Given the description of an element on the screen output the (x, y) to click on. 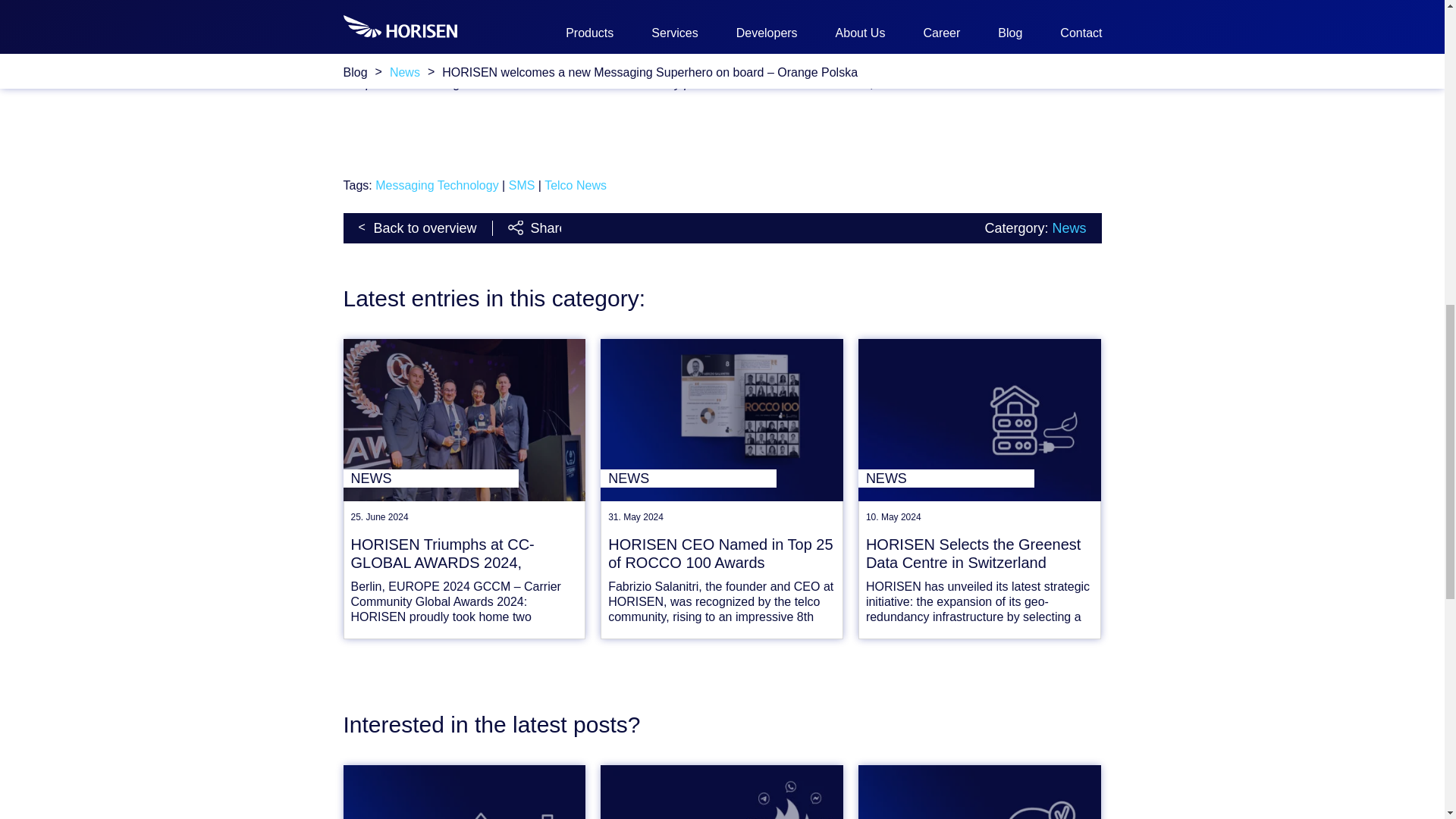
HORISEN CEO Named in Top 25 of ROCCO 100 Awards (721, 553)
News (1068, 227)
Telco News (575, 185)
Messaging Technology (436, 185)
NEWS (687, 478)
NEWS (430, 478)
SMS (521, 185)
